Given the description of an element on the screen output the (x, y) to click on. 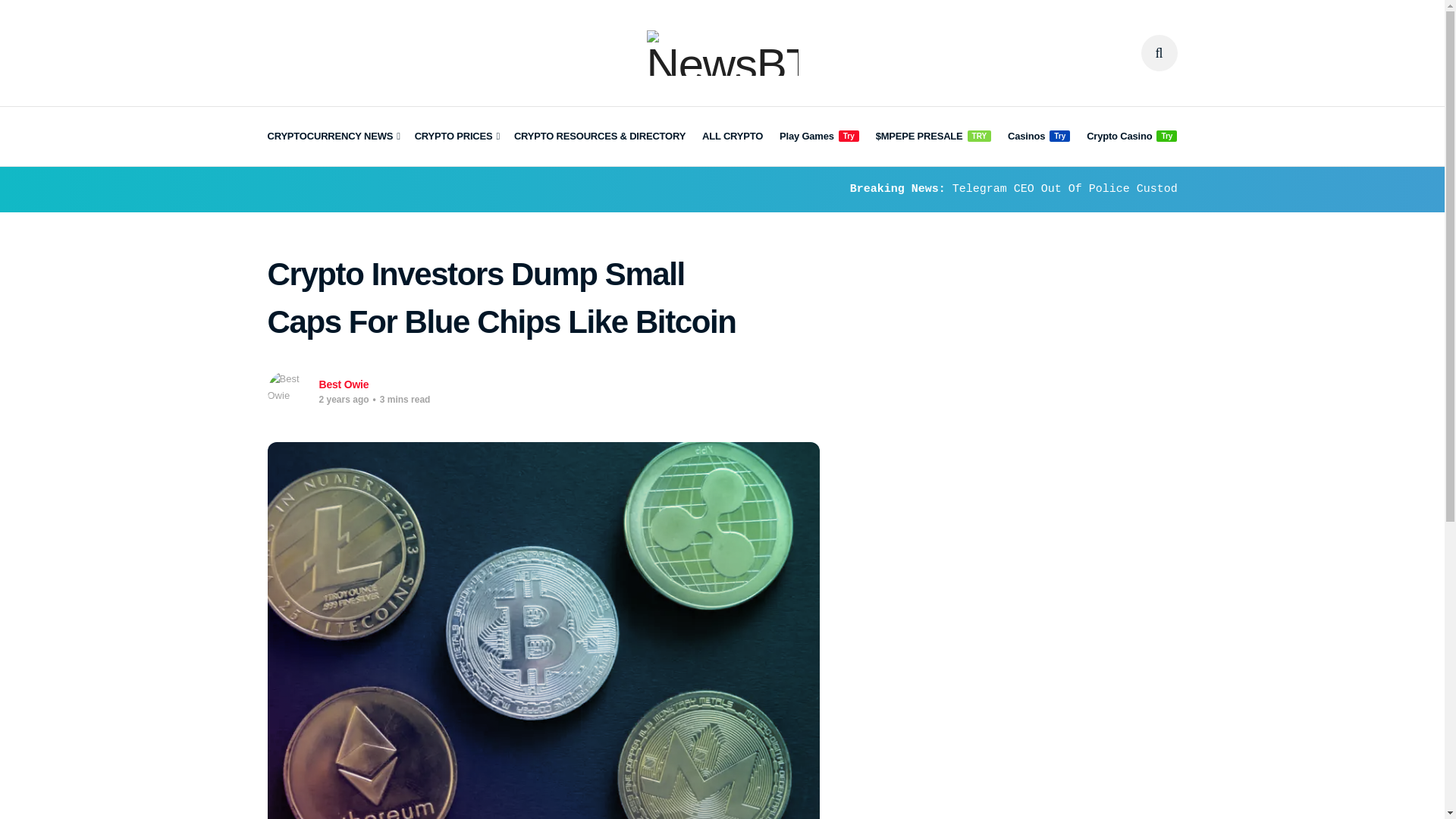
CRYPTOCURRENCY NEWS (331, 136)
ALL CRYPTO (731, 136)
CRYPTO PRICES (455, 136)
